Given the description of an element on the screen output the (x, y) to click on. 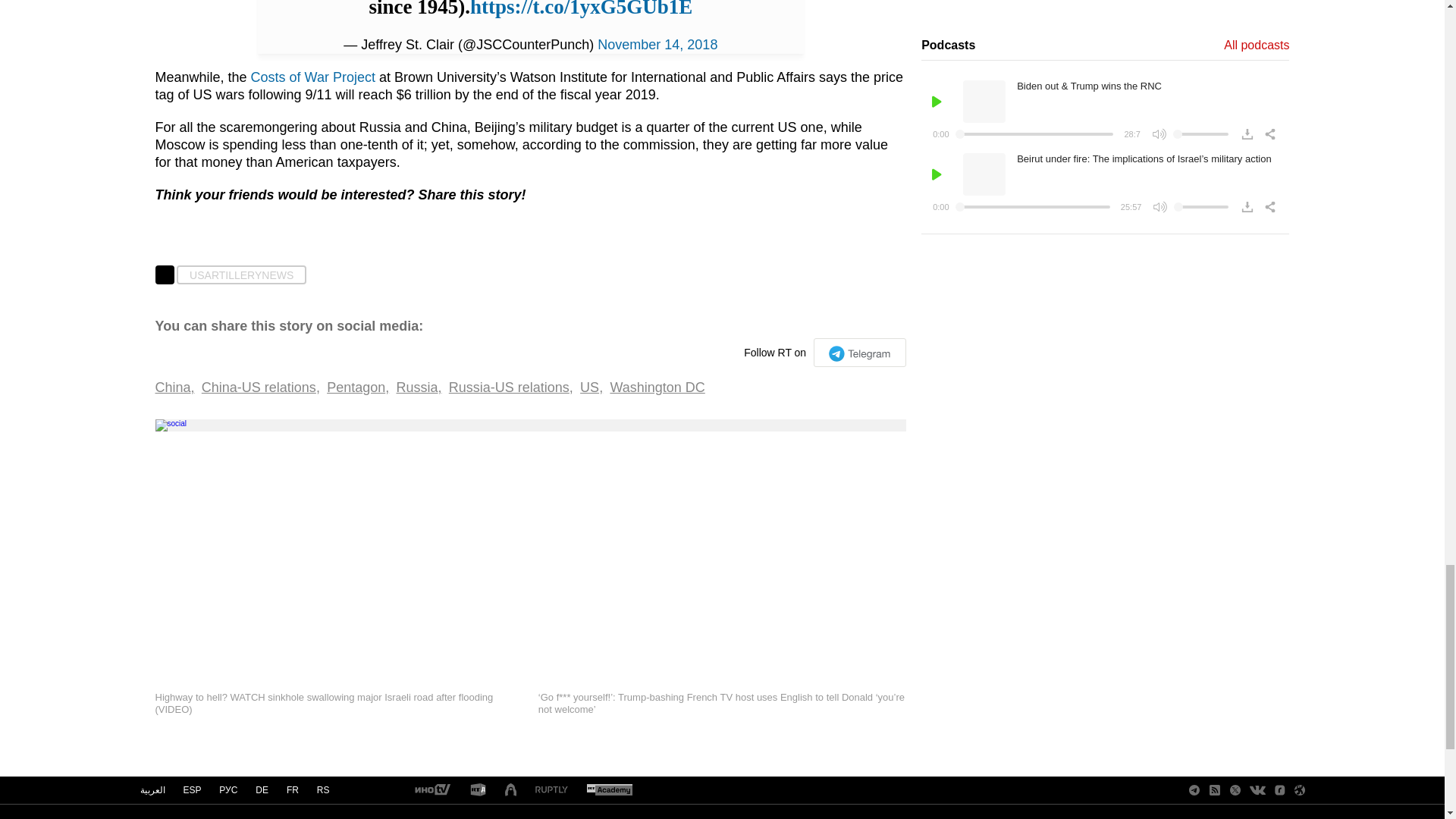
RT  (431, 789)
RT  (478, 789)
RT  (608, 789)
RT  (551, 790)
